Given the description of an element on the screen output the (x, y) to click on. 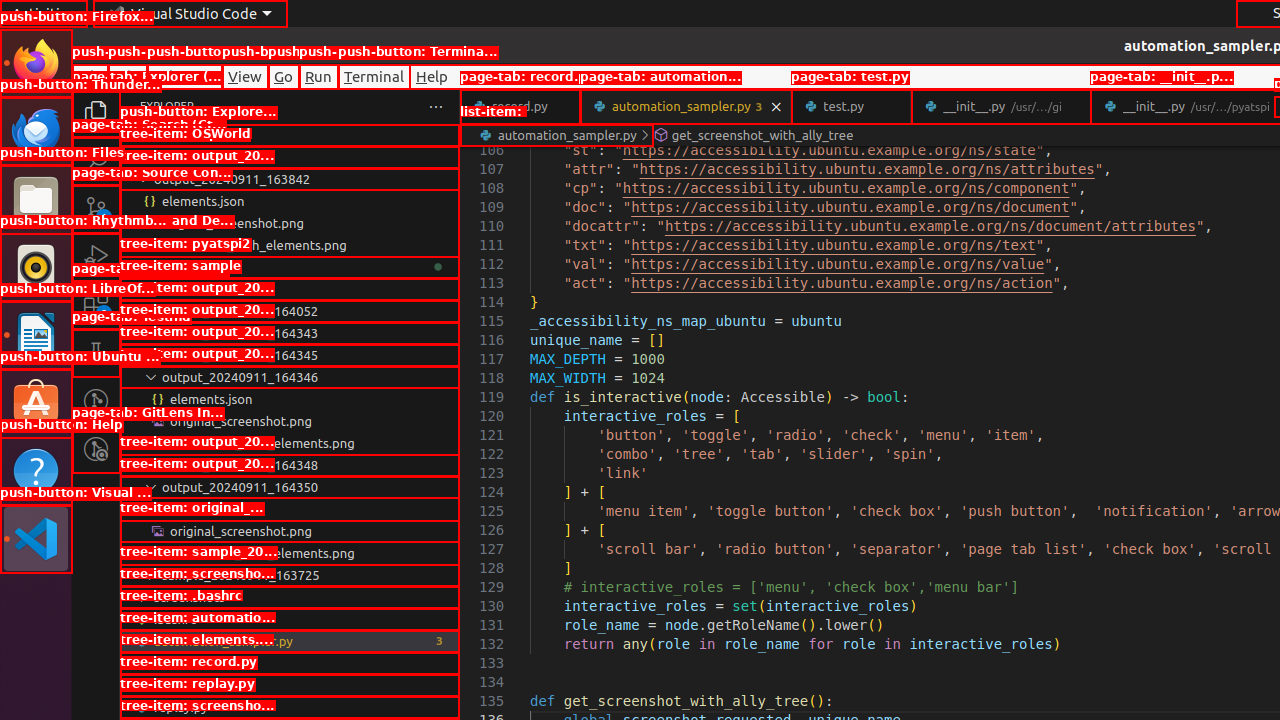
sample_20240911_163725 Element type: tree-item (289, 575)
Selection Element type: push-button (184, 76)
GitLens Inspect Element type: page-tab (96, 449)
automation_sampler.py Element type: tree-item (289, 641)
replay.py Element type: tree-item (289, 707)
